Given the description of an element on the screen output the (x, y) to click on. 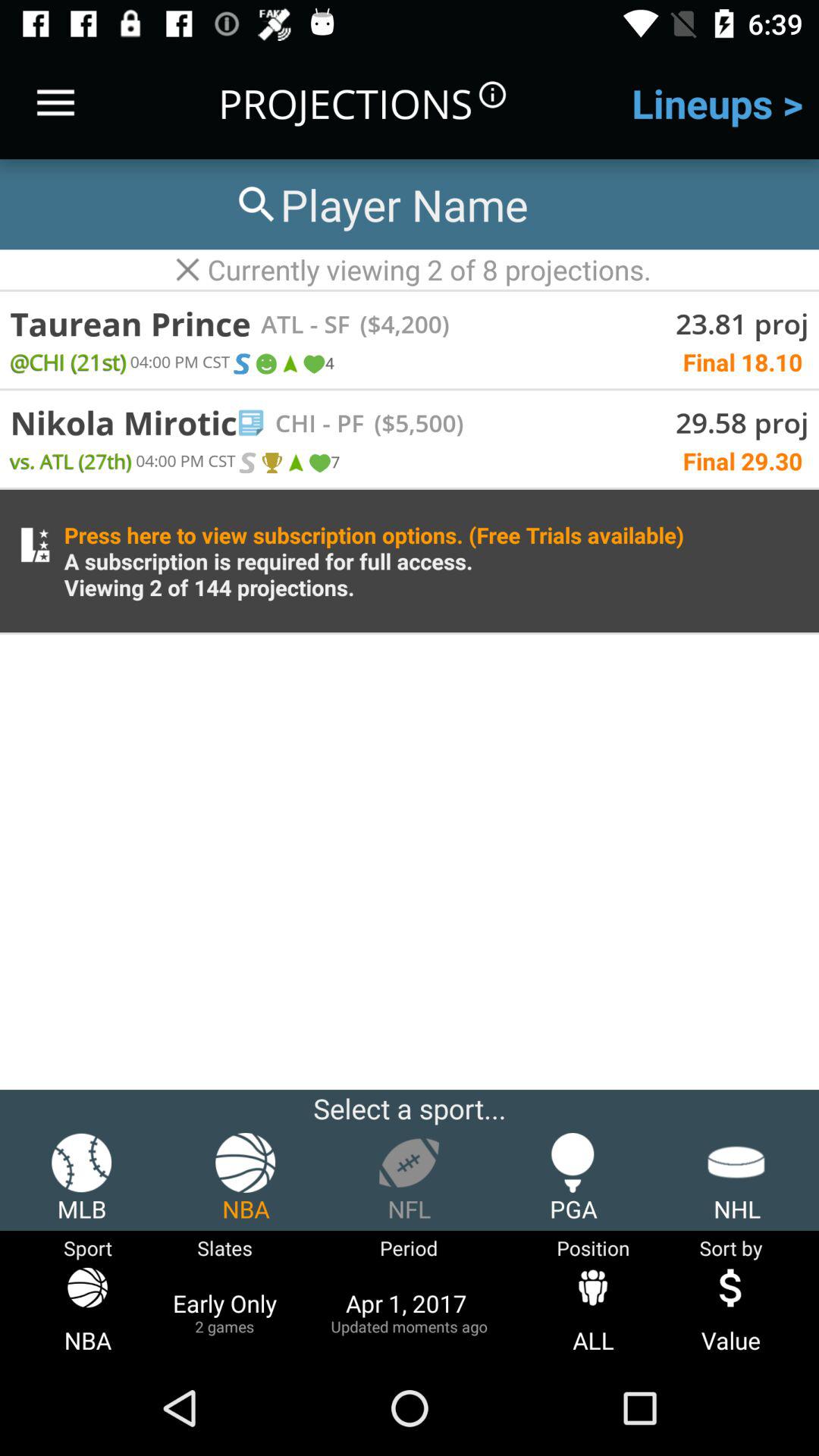
turn on the item above press here to (323, 462)
